Given the description of an element on the screen output the (x, y) to click on. 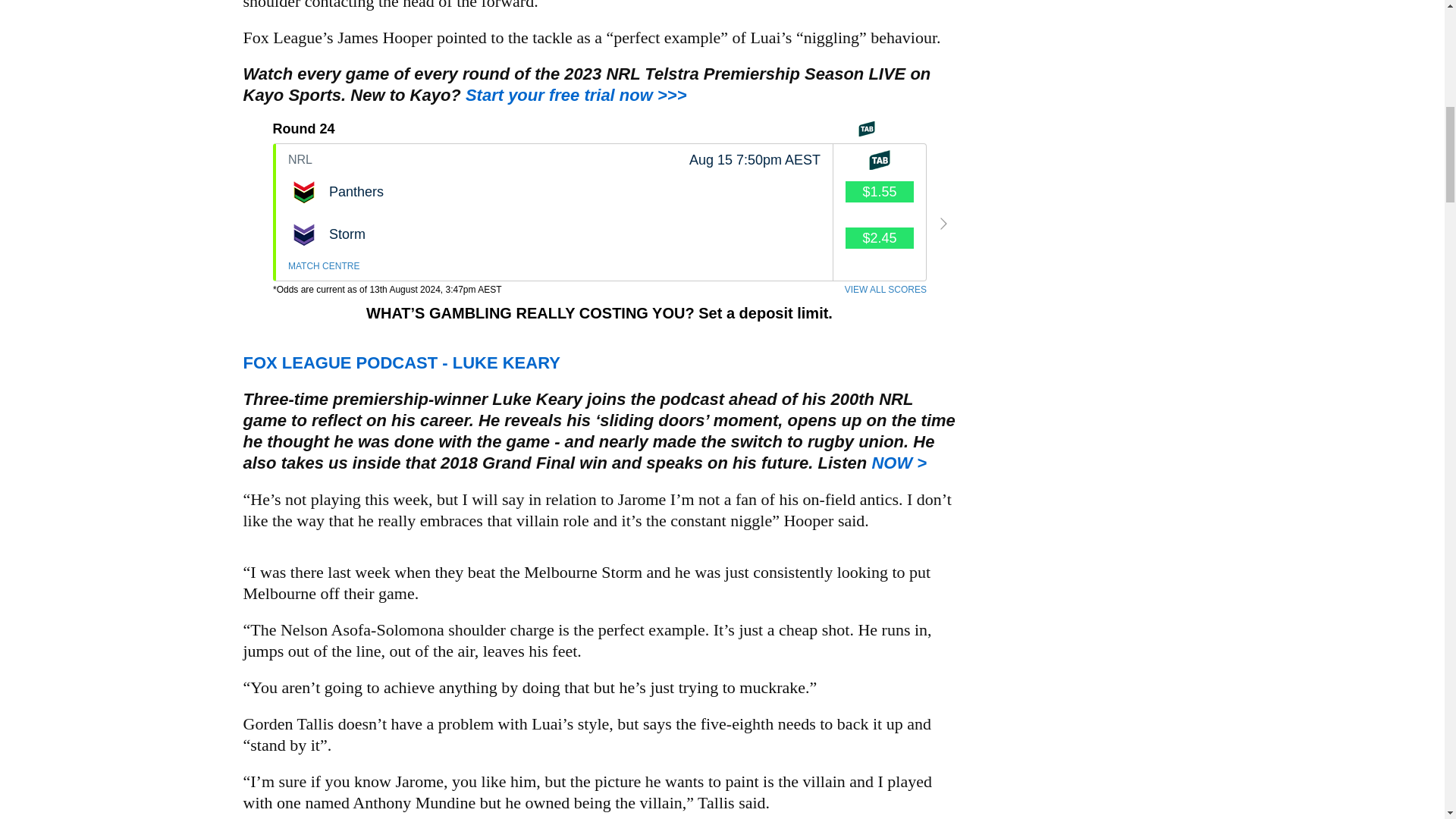
omny.fm (401, 362)
omny.fm (898, 462)
FOX LEAGUE PODCAST - LUKE KEARY (401, 362)
www.foxsports.com.au (554, 212)
VIEW ALL SCORES (576, 94)
